Given the description of an element on the screen output the (x, y) to click on. 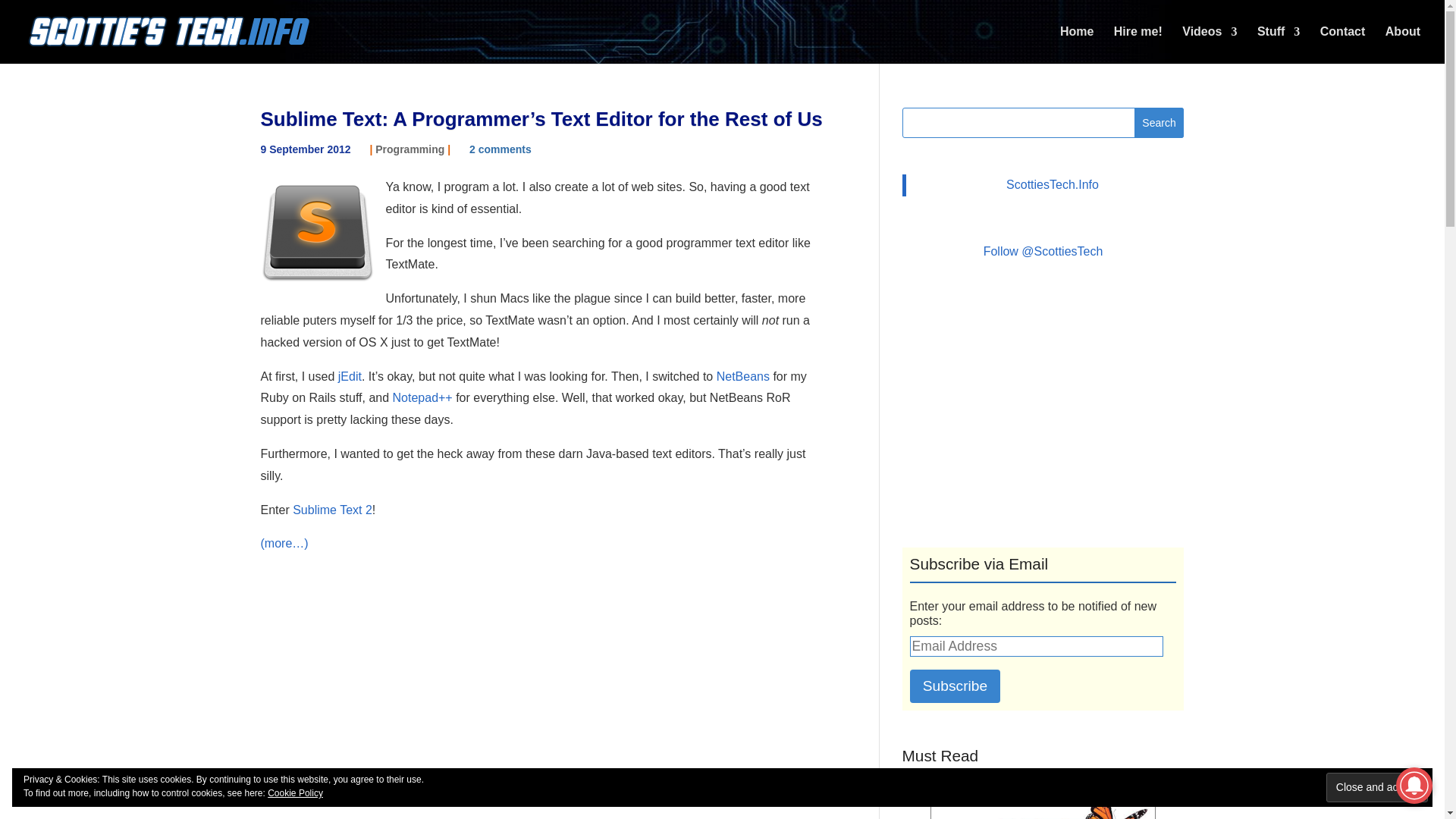
2 comments (499, 149)
About (1403, 44)
Close and accept (1377, 787)
Contact (1342, 44)
Home (1076, 44)
Sublime Text - Pure AWESOME (332, 509)
Sublime Text 2 Text Editor (317, 233)
Stuff (1278, 44)
Hire me! (1137, 44)
NetBeans (743, 376)
Programming (409, 149)
jEdit (349, 376)
Videos (1209, 44)
Search (1159, 122)
Advertisement (1043, 404)
